Given the description of an element on the screen output the (x, y) to click on. 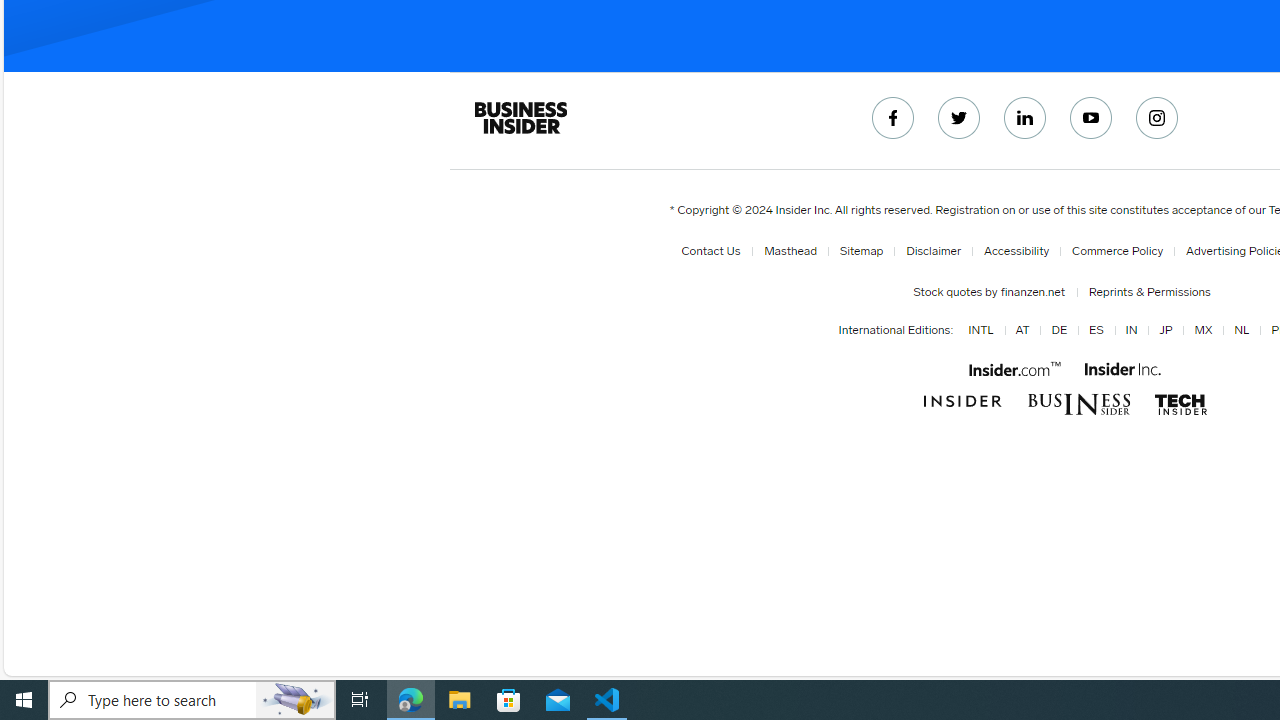
Click to visit Business Insider (962, 401)
Click to visit us on Facebook (893, 117)
INTL (977, 331)
DE (1055, 331)
Click to visit our YouTube channel (1091, 117)
Accessibility (1016, 251)
Business Insider (520, 117)
Disclaimer (929, 251)
Reprints and Permissions (1149, 291)
Reprints & Permissions (1145, 291)
Accessibility (1012, 251)
finanzen.net (1030, 291)
Disclaimer (934, 251)
AT (1018, 331)
IN (1131, 331)
